Given the description of an element on the screen output the (x, y) to click on. 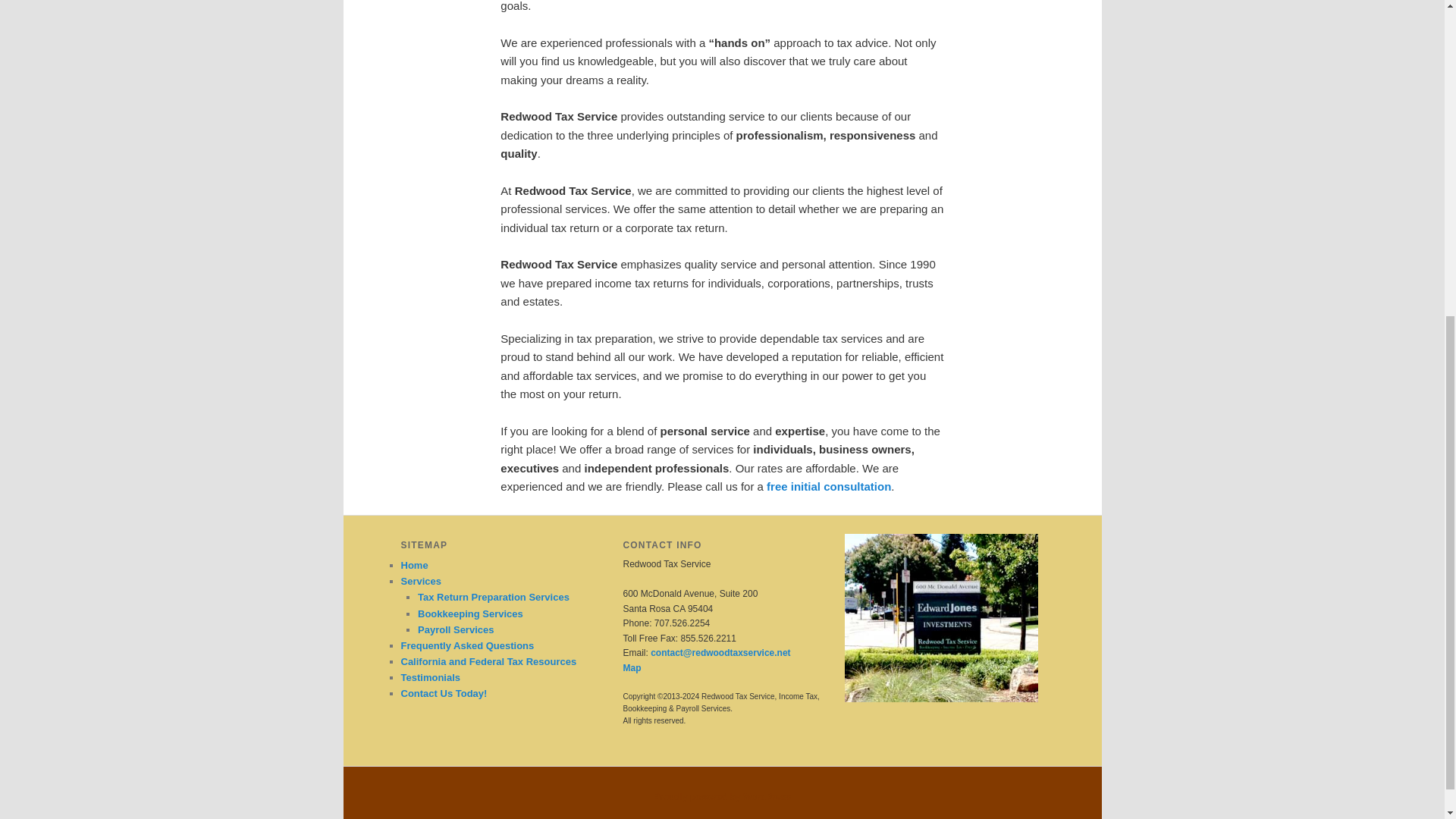
Tax services (493, 596)
Services (420, 581)
free initial consultation (829, 486)
Proudly powered by WordPress (721, 796)
Services (420, 581)
Testimonials (430, 677)
Tax Return Preparation Services (493, 596)
Bookkeeping Services (469, 613)
Home (414, 564)
Home (414, 564)
California and Federal Tax Resources (488, 661)
Bookkeeping (469, 613)
Map (631, 667)
Payroll (455, 629)
Contact Us Today! (443, 693)
